Given the description of an element on the screen output the (x, y) to click on. 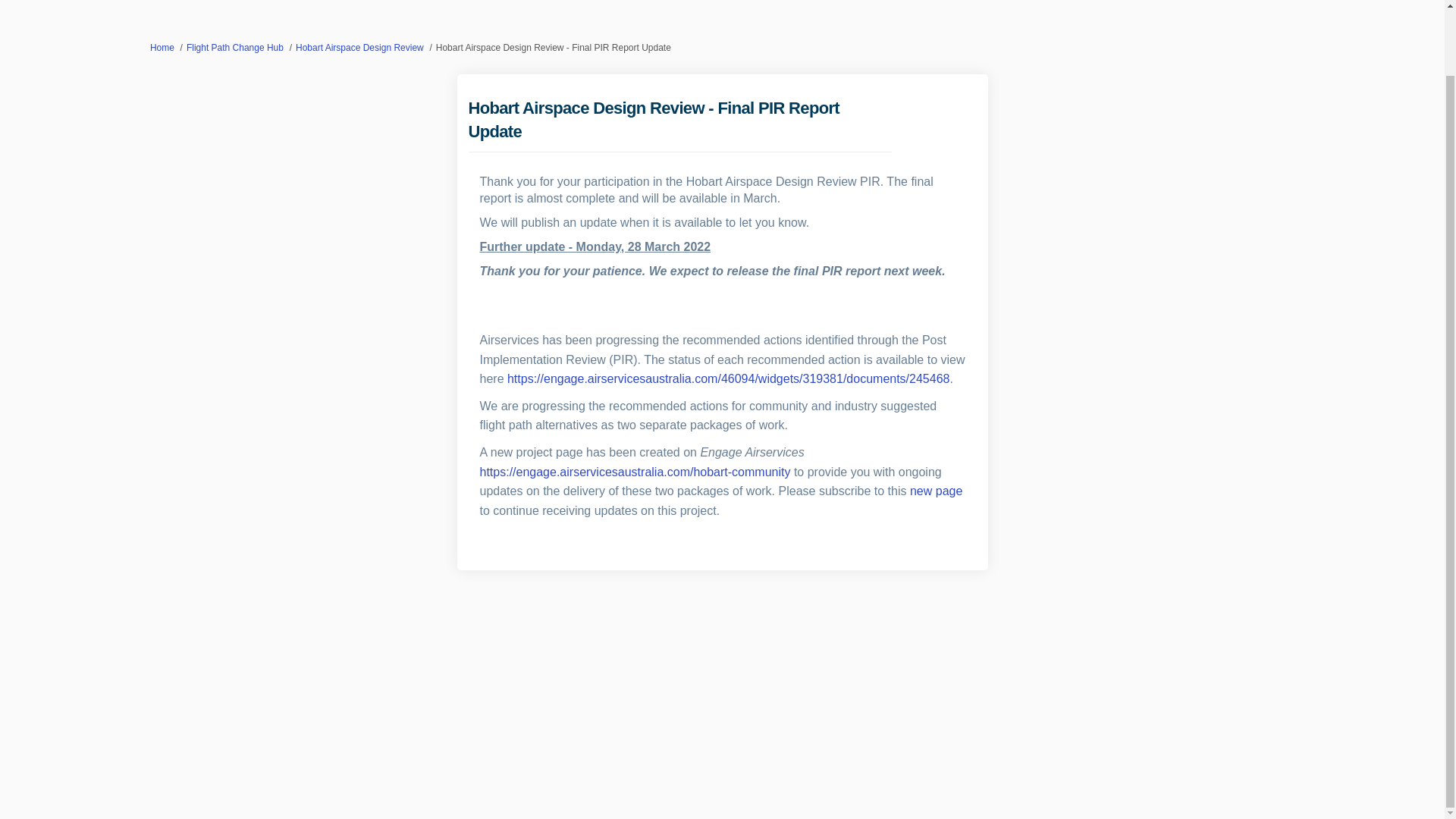
Home (161, 47)
Hobart Airspace Design Review (359, 47)
new page (936, 490)
Flight Path Change Hub (234, 47)
